Given the description of an element on the screen output the (x, y) to click on. 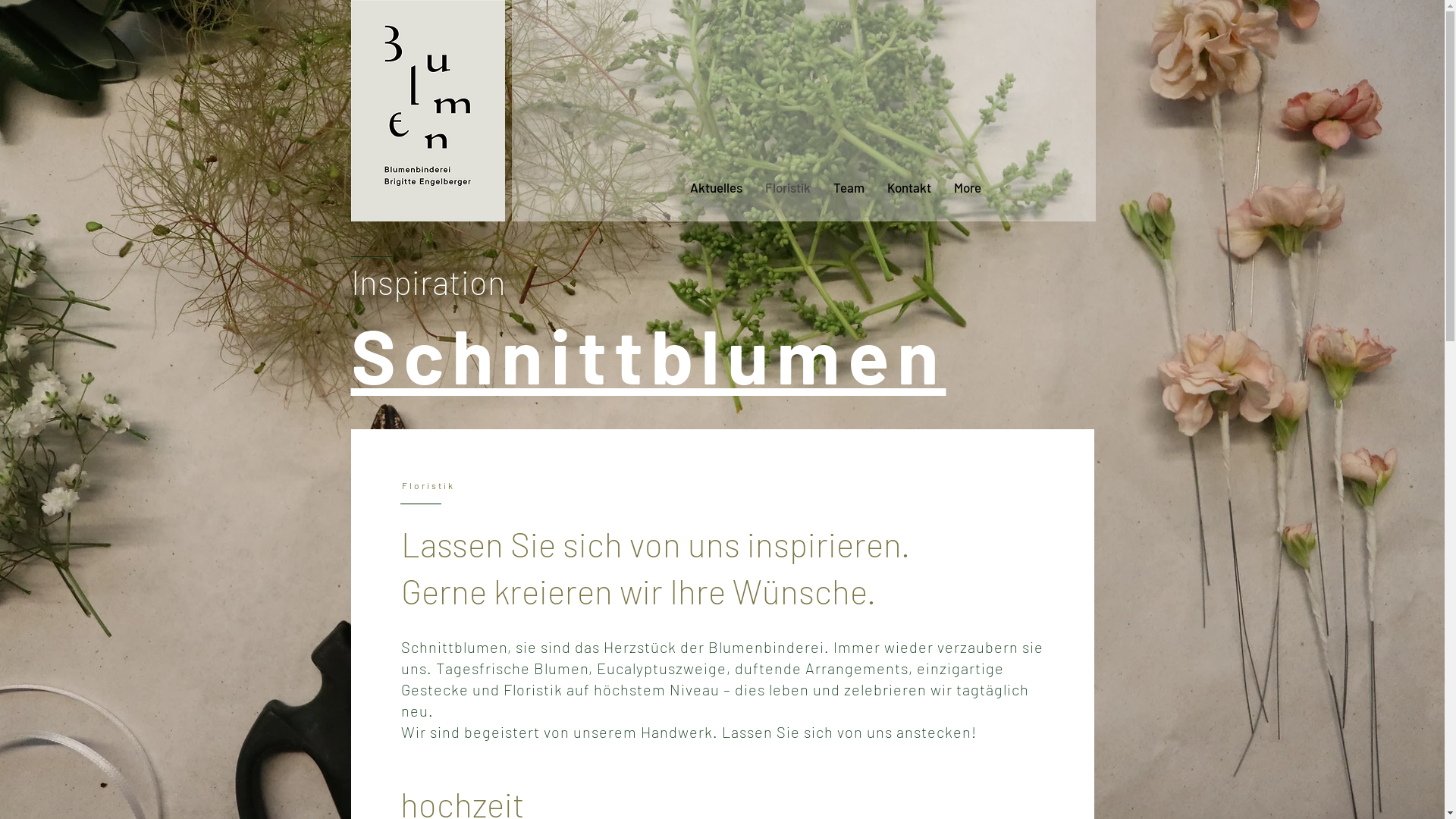
Kontakt Element type: text (908, 197)
Aktuelles Element type: text (715, 197)
Team Element type: text (848, 197)
Floristik Element type: text (787, 197)
Blumenbinderei Engelberger Element type: hover (427, 110)
